Given the description of an element on the screen output the (x, y) to click on. 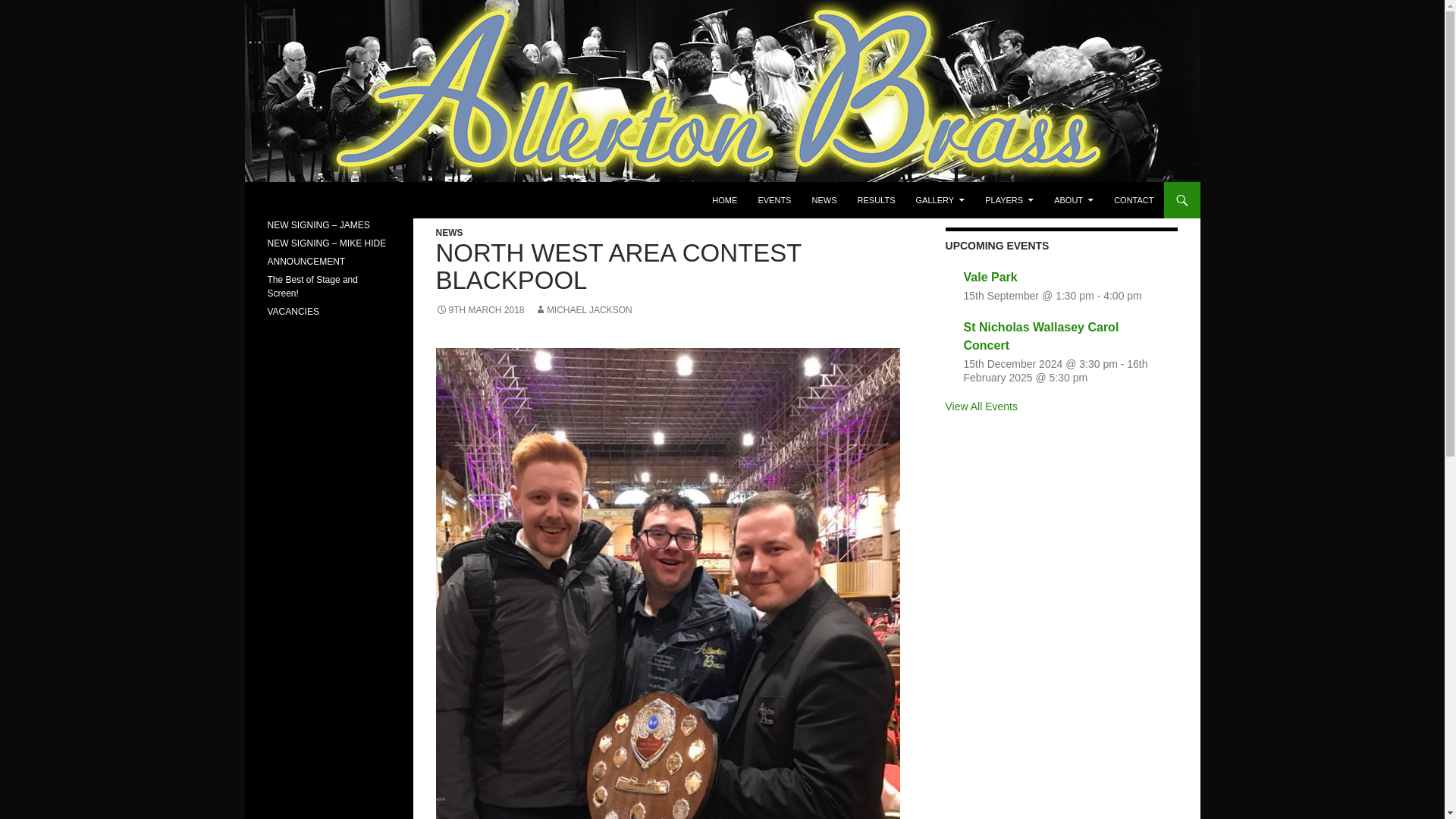
VACANCIES (292, 311)
GALLERY (940, 199)
CONTACT (1133, 199)
Vale Park (990, 277)
PLAYERS (1008, 199)
The Best of Stage and Screen! (311, 286)
9TH MARCH 2018 (479, 309)
ABOUT (1073, 199)
ANNOUNCEMENT (305, 261)
RESULTS (876, 199)
